Given the description of an element on the screen output the (x, y) to click on. 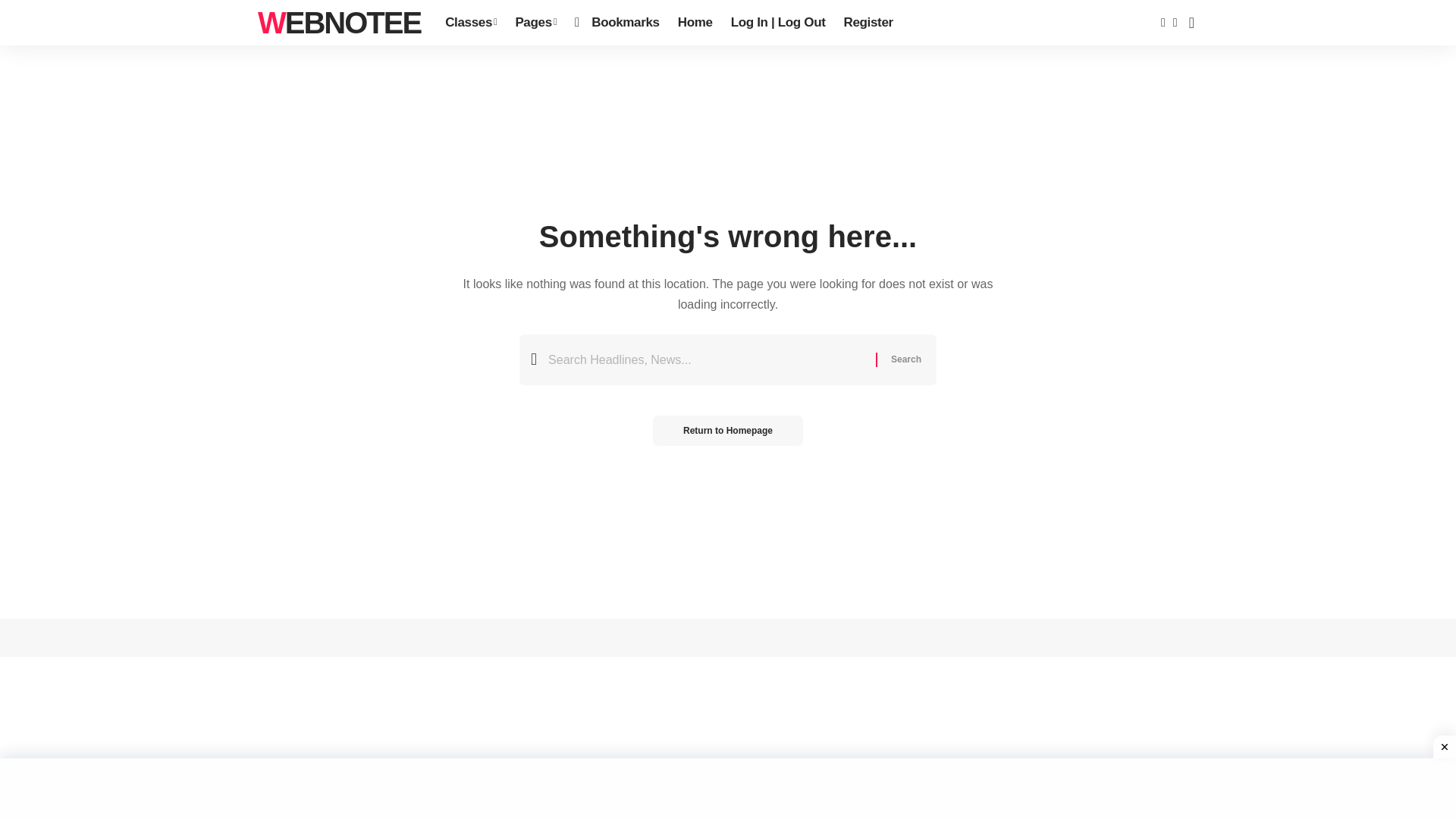
Home (695, 22)
Search (906, 359)
Register (868, 22)
WebNotee (338, 22)
Search (906, 359)
WEBNOTEE (338, 22)
Classes (470, 22)
Bookmarks (617, 22)
Return to Homepage (727, 430)
Pages (535, 22)
